Given the description of an element on the screen output the (x, y) to click on. 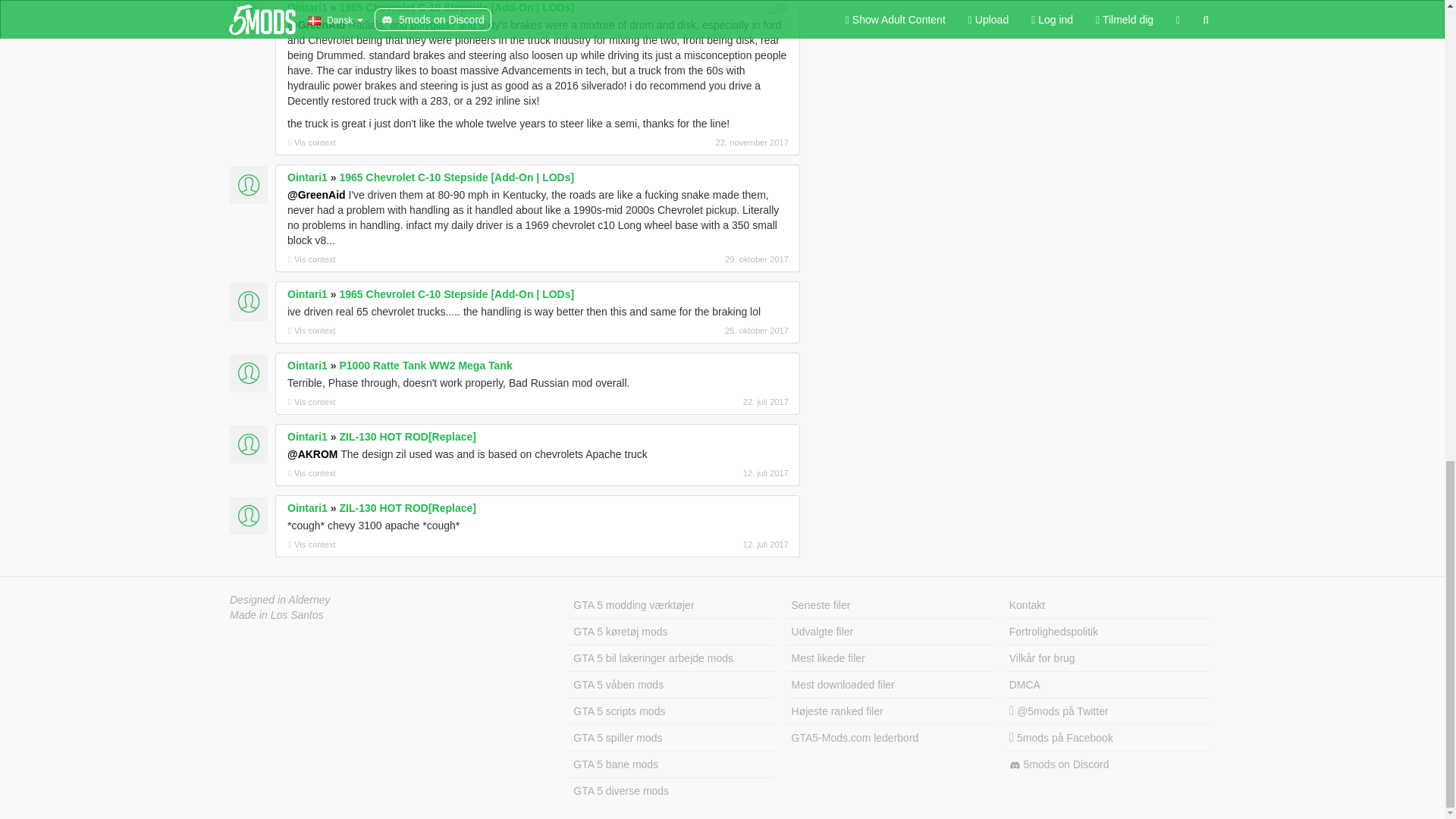
29. oktober 2017, 10.15 (708, 259)
Godt (777, 7)
22. november 2017, 20.25 (708, 142)
